Given the description of an element on the screen output the (x, y) to click on. 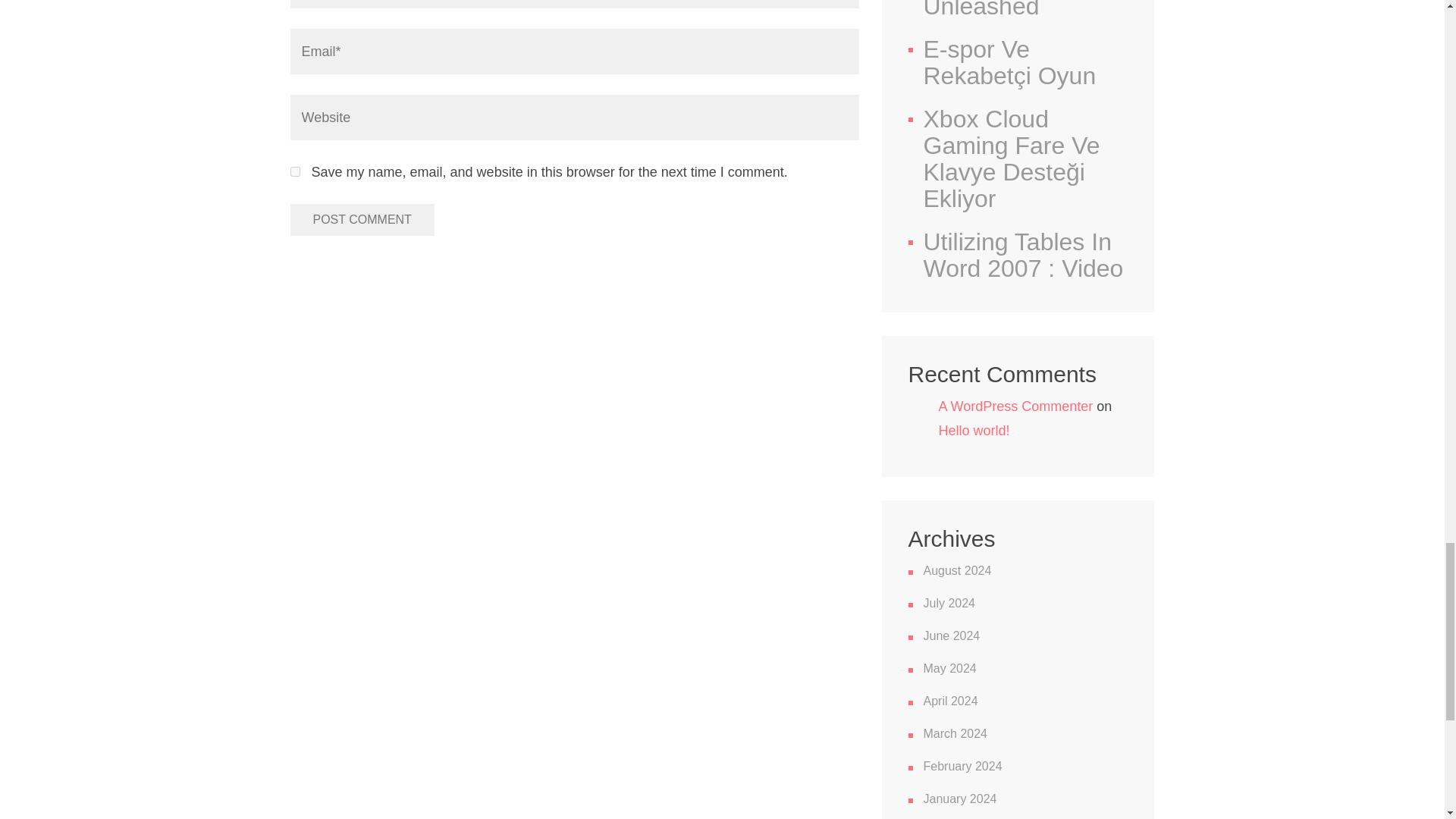
Post Comment (361, 219)
yes (294, 171)
Post Comment (361, 219)
